Given the description of an element on the screen output the (x, y) to click on. 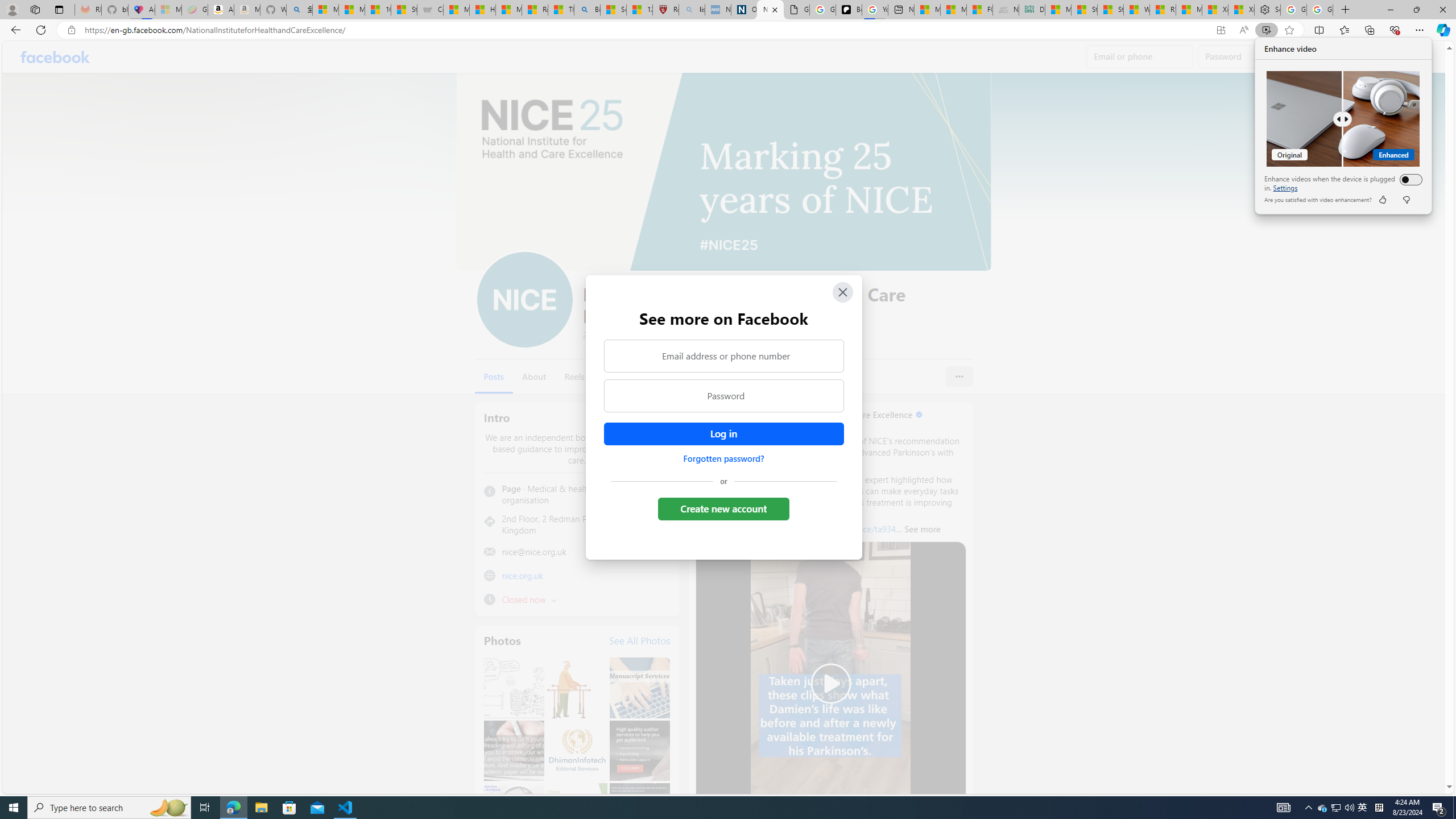
Settings (1267, 9)
Accessible login button (723, 433)
Tray Input Indicator - Chinese (Simplified, China) (1378, 807)
list of asthma inhalers uk - Search - Sleeping (1335, 807)
DITOGAMES AG Imprint (1322, 807)
Task View (692, 9)
Stocks - MSN (1031, 9)
